Given the description of an element on the screen output the (x, y) to click on. 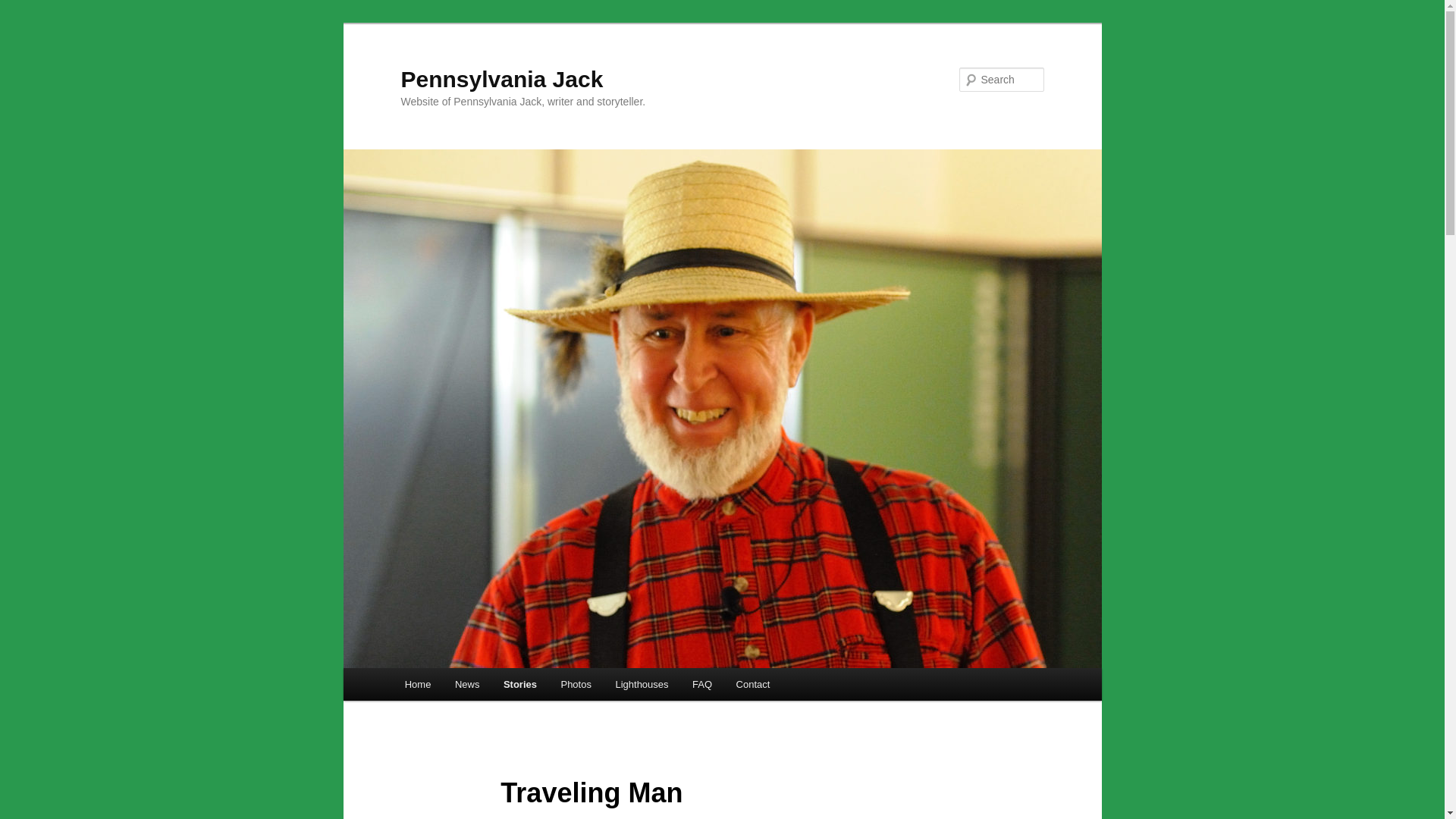
Pennsylvania Jack (501, 78)
Stories (520, 684)
Search (24, 8)
News (467, 684)
Home (417, 684)
